Given the description of an element on the screen output the (x, y) to click on. 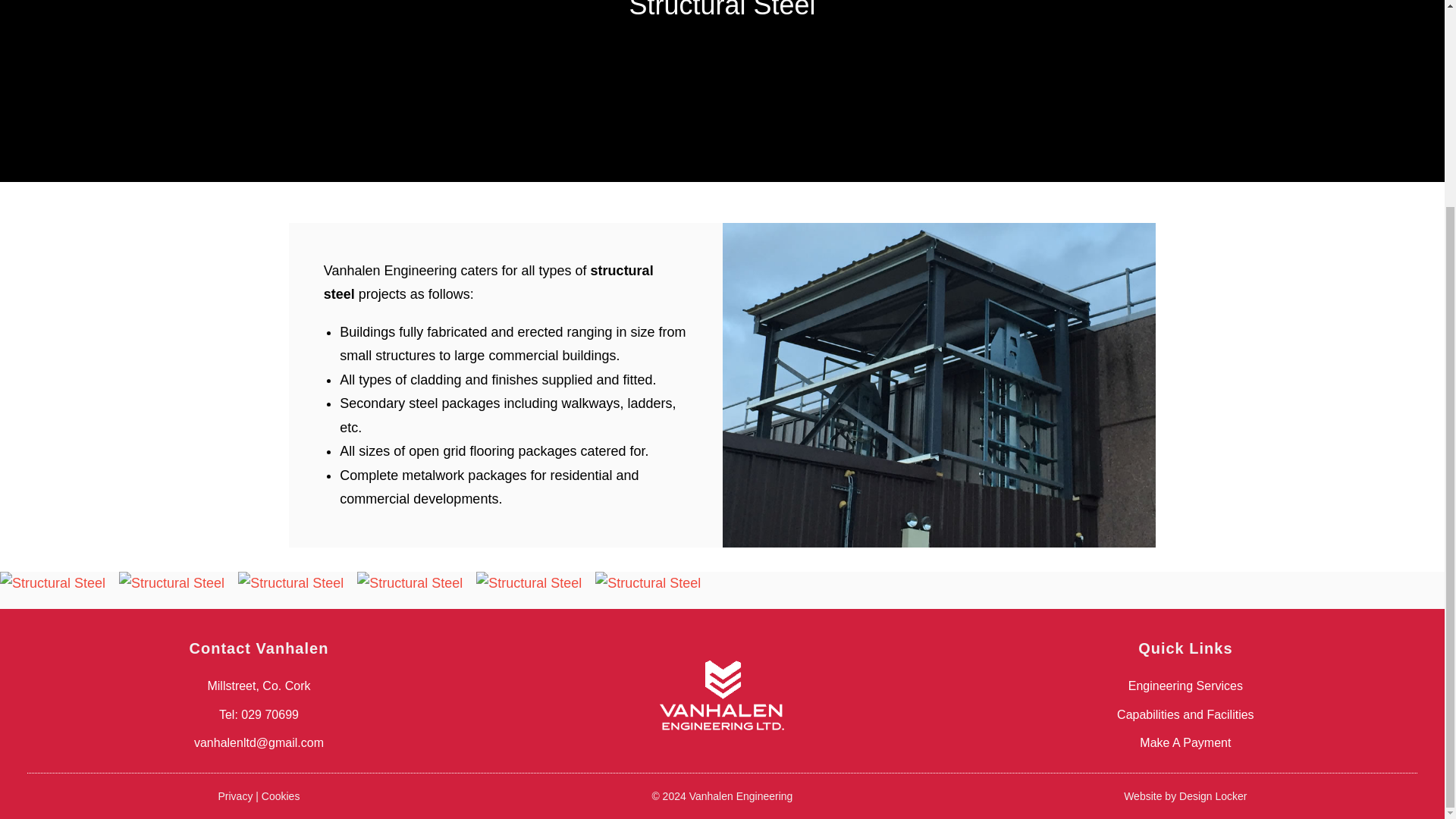
Vanhalen Engineering Payments (1185, 742)
Vanhalen Capabilities and Facilities (1184, 714)
Website Design Limerick (1185, 796)
029 70699 (269, 714)
Vanhalen Engineering Services (1185, 685)
